Given the description of an element on the screen output the (x, y) to click on. 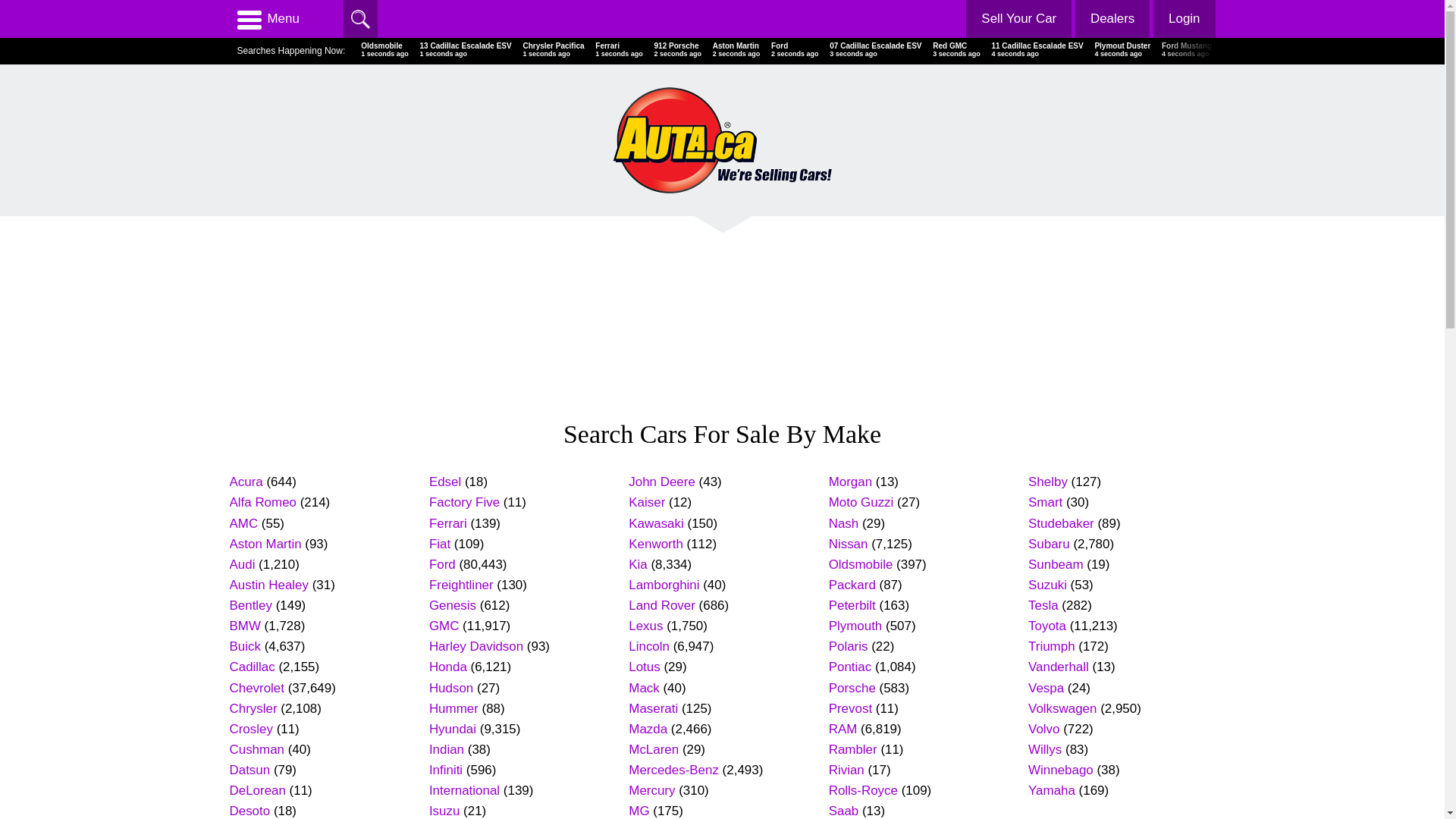
Mercedes-Benz Element type: text (673, 769)
Isuzu Element type: text (444, 810)
13 Cadillac Escalade ESV
1 seconds ago Element type: text (465, 49)
Acura Element type: text (245, 481)
Crosley Element type: text (250, 728)
Plymout Duster
4 seconds ago Element type: text (1122, 49)
Toyota Element type: text (1047, 625)
Peterbilt Element type: text (851, 605)
Harley Davidson Element type: text (476, 646)
Prevost Element type: text (850, 708)
Infiniti Element type: text (445, 769)
Nash Element type: text (843, 522)
Rolls-Royce Element type: text (862, 790)
Red GMC
3 seconds ago Element type: text (956, 49)
Mack Element type: text (643, 687)
Lotus Element type: text (643, 666)
DeLorean Element type: text (257, 790)
Cushman Element type: text (256, 749)
John Deere Element type: text (661, 481)
Nissan Element type: text (848, 543)
Studebaker Element type: text (1061, 522)
Dealers Element type: text (1112, 18)
Packard Element type: text (851, 584)
Indian Element type: text (446, 749)
Sell Your Car Element type: text (1018, 18)
Ferrari
1 seconds ago Element type: text (618, 49)
Login Element type: text (1183, 18)
MG Element type: text (638, 810)
Land Rover Element type: text (661, 605)
Kawasaki Element type: text (656, 522)
Subaru Element type: text (1049, 543)
Mazda Element type: text (647, 728)
Hudson Element type: text (451, 687)
Oldsmobile Element type: text (860, 564)
Cadillac Element type: text (251, 666)
Kenworth Element type: text (655, 543)
Home Element type: hover (721, 139)
Polaris Element type: text (848, 646)
Smart Element type: text (1045, 502)
Volvo Element type: text (1043, 728)
Edsel Element type: text (445, 481)
Hummer Element type: text (453, 708)
Kia Element type: text (637, 564)
Yamaha Element type: text (1051, 790)
Ferrari Element type: text (448, 522)
GMC Element type: text (444, 625)
Aston Martin
2 seconds ago Element type: text (736, 49)
Shelby Element type: text (1047, 481)
Hyundai Element type: text (452, 728)
Willys Element type: text (1044, 749)
Austin Healey Element type: text (268, 584)
912 Porsche
2 seconds ago Element type: text (678, 49)
Vespa Element type: text (1045, 687)
Oldsmobile
1 seconds ago Element type: text (384, 49)
Menu Element type: text (267, 18)
Volkswagen Element type: text (1062, 708)
AMC Element type: text (243, 522)
Porsche Element type: text (851, 687)
Tesla Element type: text (1043, 605)
Lamborghini Element type: text (663, 584)
Buick Element type: text (244, 646)
Freightliner Element type: text (461, 584)
Triumph Element type: text (1051, 646)
International Element type: text (464, 790)
Factory Five Element type: text (464, 502)
Rivian Element type: text (846, 769)
Ford Element type: text (442, 564)
Winnebago Element type: text (1060, 769)
Saab Element type: text (843, 810)
Alfa Romeo Element type: text (262, 502)
Ford
2 seconds ago Element type: text (794, 49)
Suzuki Element type: text (1047, 584)
Genesis Element type: text (452, 605)
Chrysler Pacifica
1 seconds ago Element type: text (552, 49)
RAM Element type: text (842, 728)
McLaren Element type: text (653, 749)
Aston Martin Element type: text (265, 543)
Fiat Element type: text (439, 543)
Morgan Element type: text (850, 481)
Mercury Element type: text (651, 790)
Bentley Element type: text (250, 605)
Chrysler Element type: text (252, 708)
Moto Guzzi Element type: text (861, 502)
Audi Element type: text (241, 564)
11 Cadillac Escalade ESV
4 seconds ago Element type: text (1036, 49)
Lincoln Element type: text (648, 646)
Honda Element type: text (448, 666)
Sunbeam Element type: text (1055, 564)
Ford Mustang
4 seconds ago Element type: text (1186, 49)
Plymouth Element type: text (855, 625)
Pontiac Element type: text (850, 666)
Lexus Element type: text (645, 625)
Rambler Element type: text (852, 749)
Vanderhall Element type: text (1058, 666)
Datsun Element type: text (249, 769)
BMW Element type: text (244, 625)
07 Cadillac Escalade ESV
3 seconds ago Element type: text (875, 49)
Maserati Element type: text (652, 708)
Kaiser Element type: text (646, 502)
Desoto Element type: text (249, 810)
Chevrolet Element type: text (256, 687)
